Given the description of an element on the screen output the (x, y) to click on. 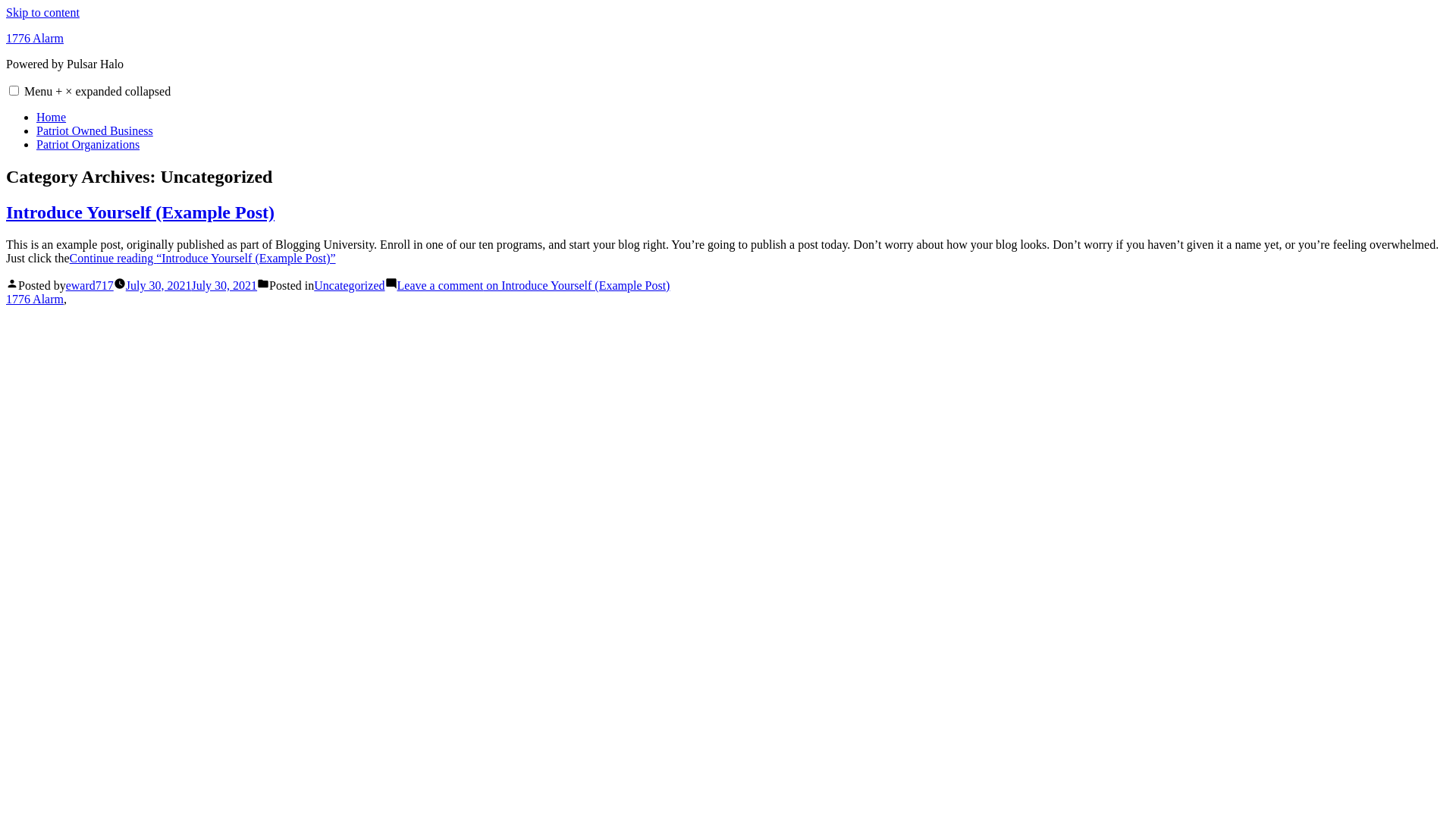
July 30, 2021July 30, 2021 Element type: text (191, 285)
Introduce Yourself (Example Post) Element type: text (140, 212)
Uncategorized Element type: text (348, 285)
Leave a comment on Introduce Yourself (Example Post) Element type: text (533, 285)
Patriot Organizations Element type: text (87, 144)
eward717 Element type: text (89, 285)
Patriot Owned Business Element type: text (94, 130)
Skip to content Element type: text (42, 12)
1776 Alarm Element type: text (34, 37)
1776 Alarm Element type: text (34, 298)
Home Element type: text (50, 116)
